Given the description of an element on the screen output the (x, y) to click on. 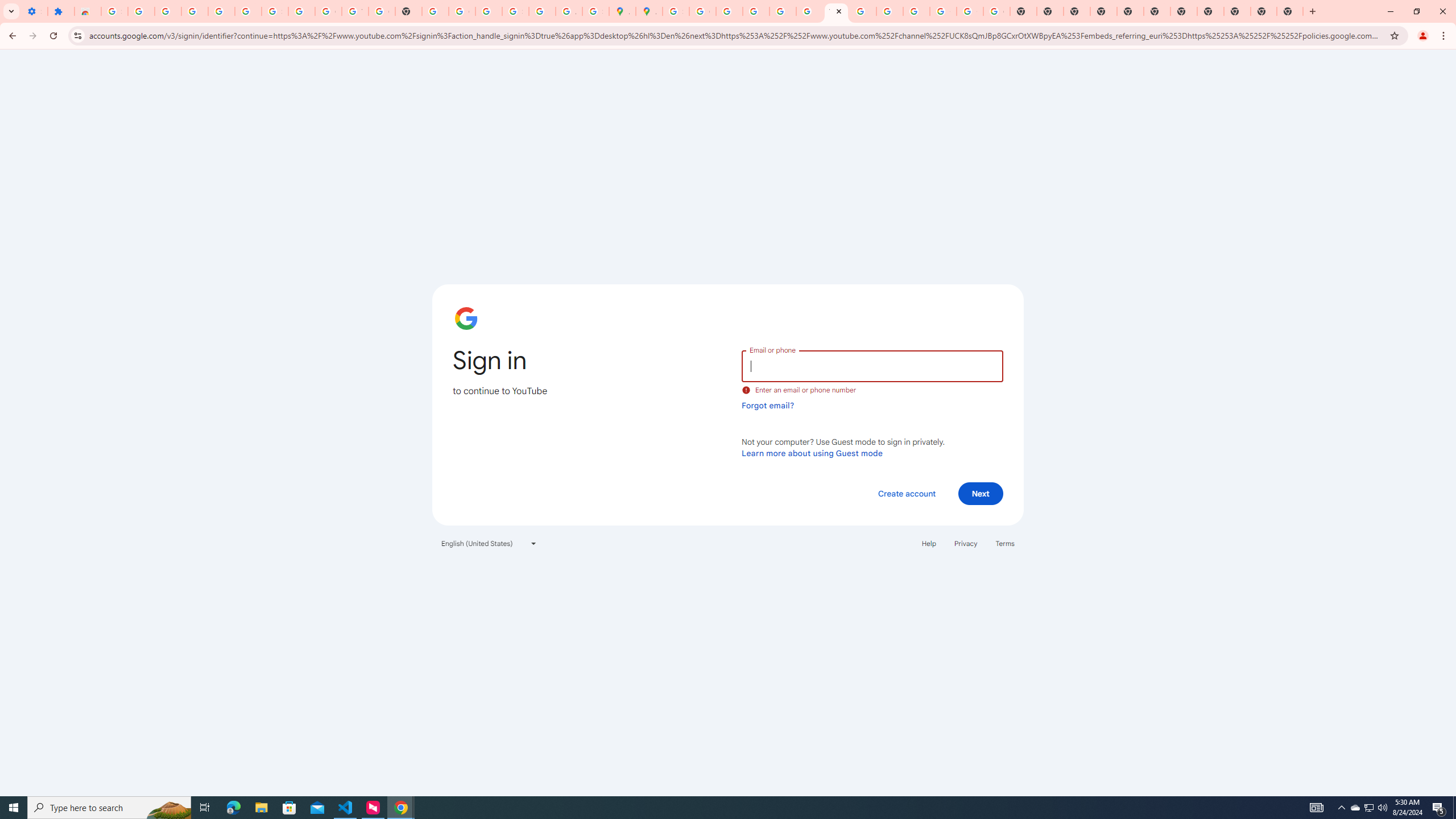
Sign in - Google Accounts (676, 11)
Create account (905, 493)
YouTube (355, 11)
Extensions (61, 11)
New Tab (1289, 11)
Delete photos & videos - Computer - Google Photos Help (194, 11)
YouTube (836, 11)
Google Images (996, 11)
